Given the description of an element on the screen output the (x, y) to click on. 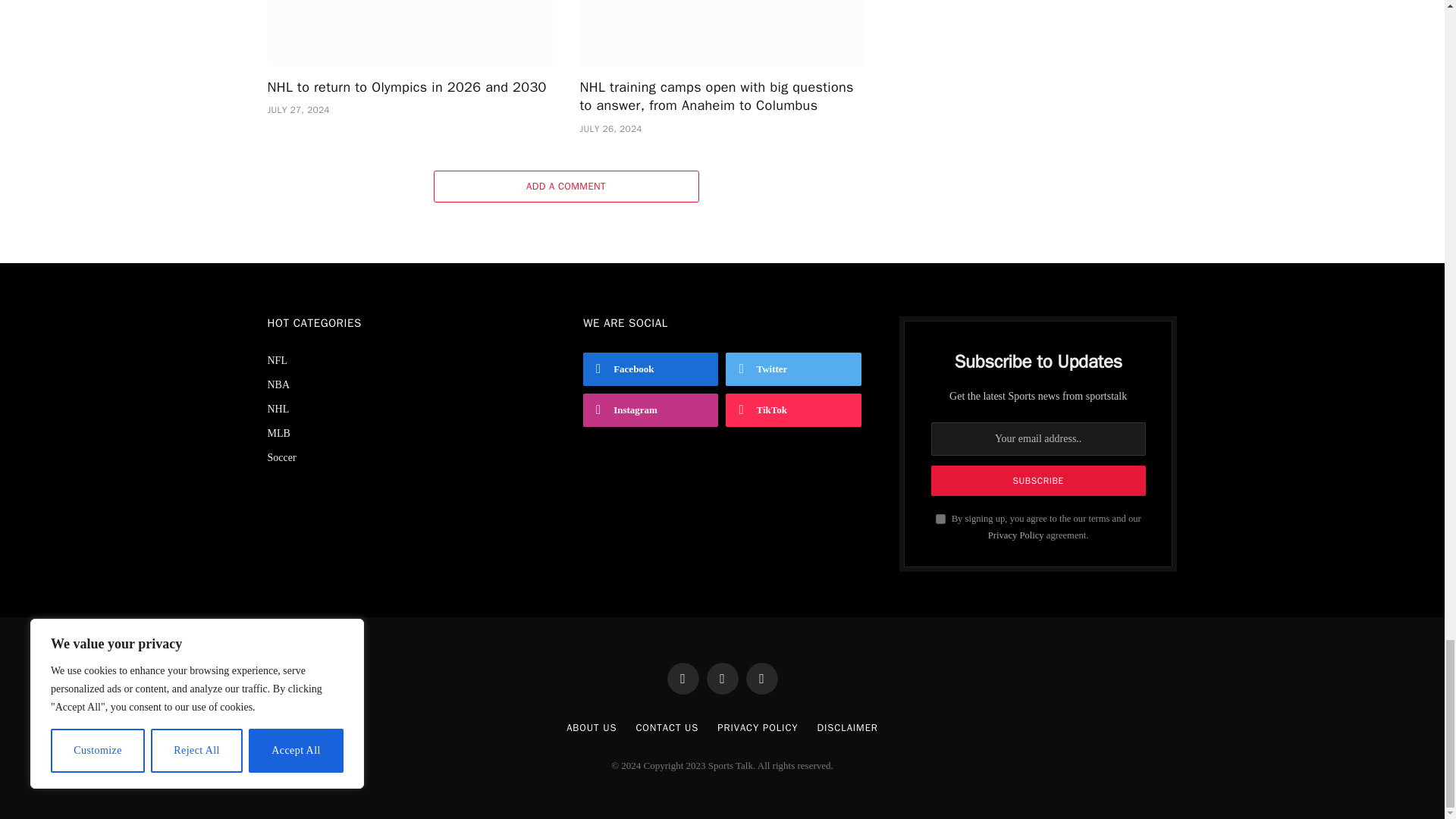
on (940, 519)
Subscribe (1038, 481)
